Given the description of an element on the screen output the (x, y) to click on. 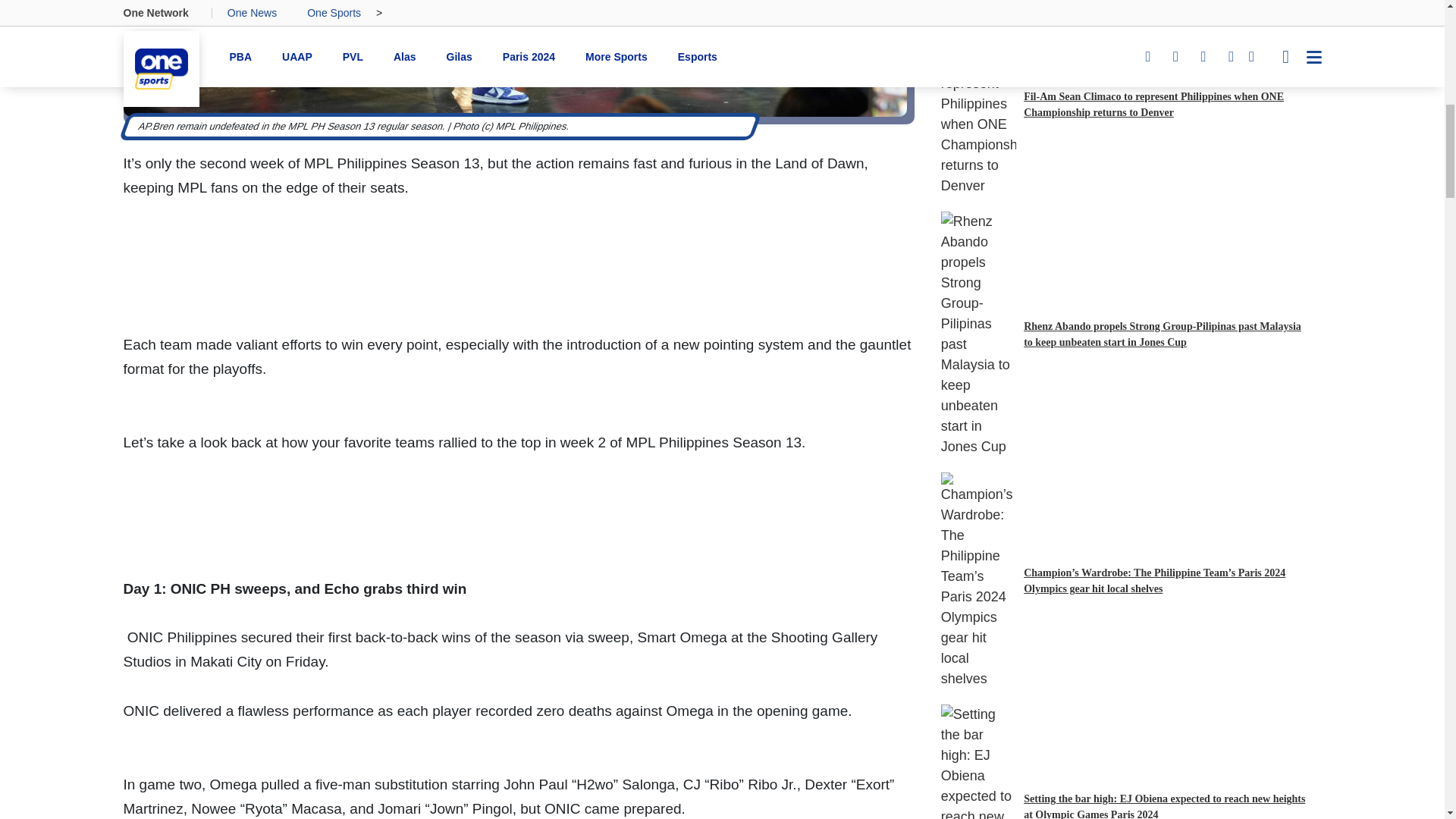
3rd party ad content (518, 298)
